Given the description of an element on the screen output the (x, y) to click on. 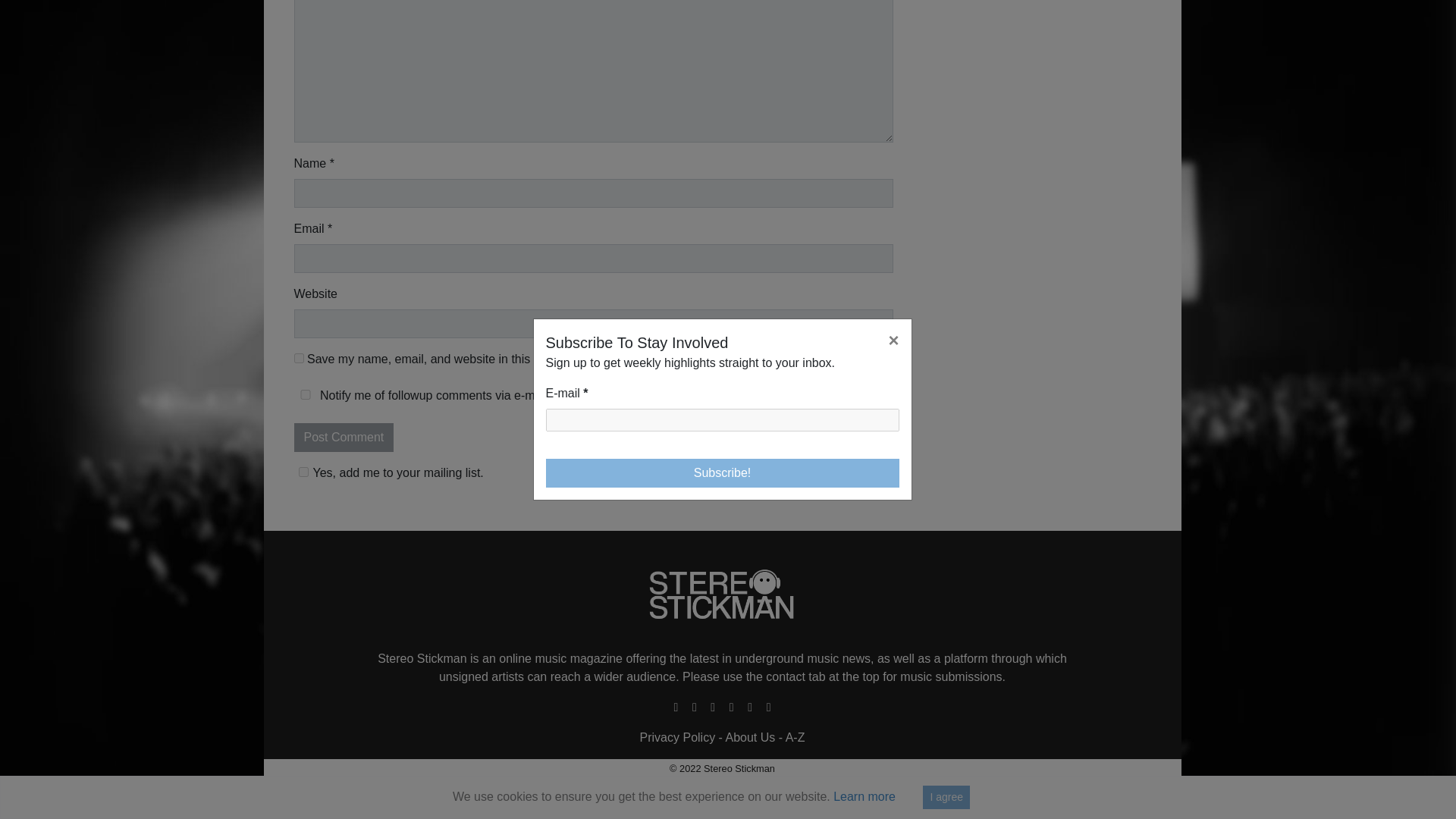
Post Comment (344, 437)
